Given the description of an element on the screen output the (x, y) to click on. 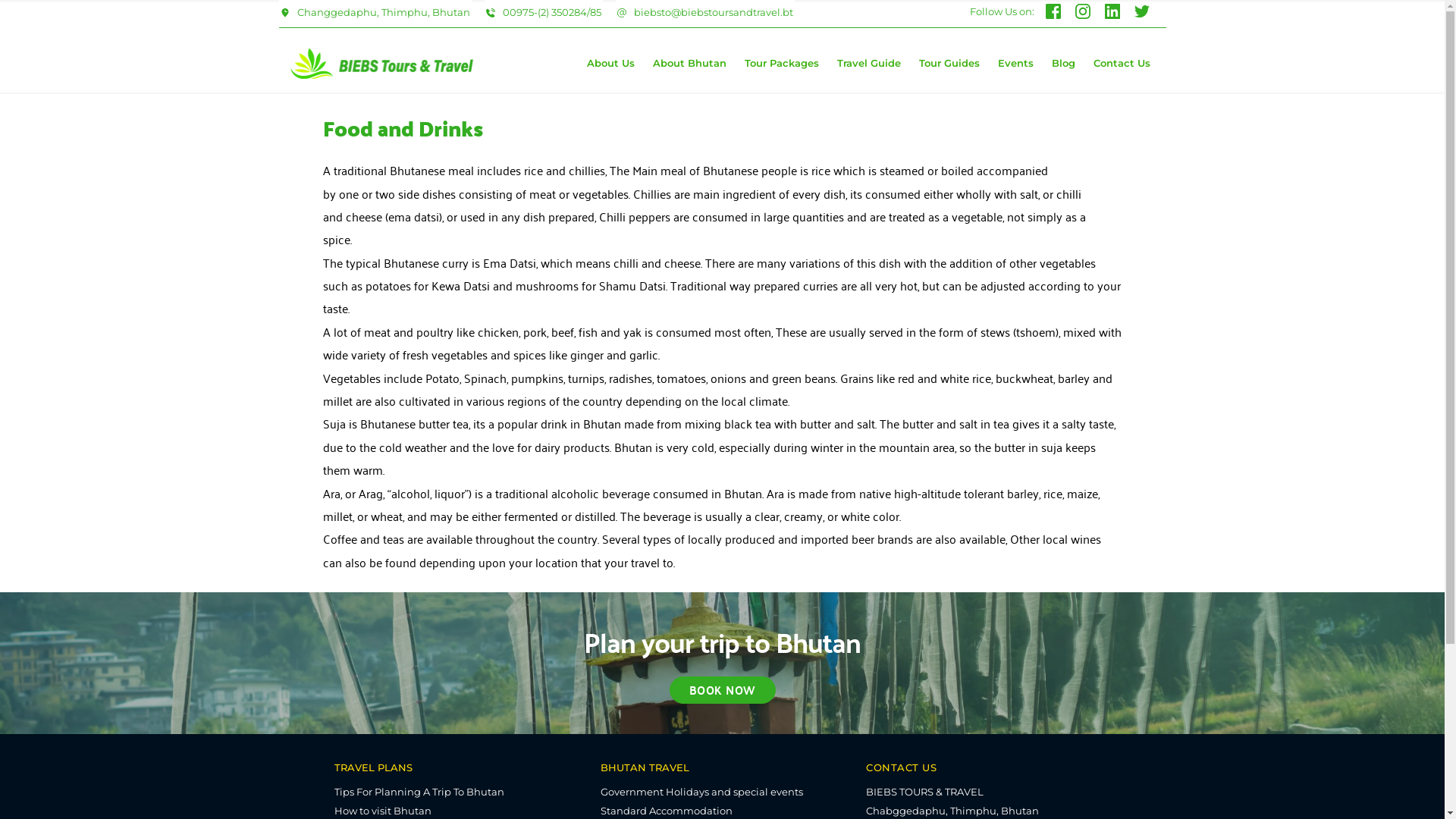
Travel Guide Element type: text (868, 63)
Blog Element type: text (1063, 63)
About Us Element type: text (610, 63)
Tour Packages Element type: text (781, 63)
About Bhutan Element type: text (689, 63)
Events Element type: text (1015, 63)
Contact Us Element type: text (1121, 63)
BOOK NOW Element type: text (721, 689)
Tour Guides Element type: text (949, 63)
